Given the description of an element on the screen output the (x, y) to click on. 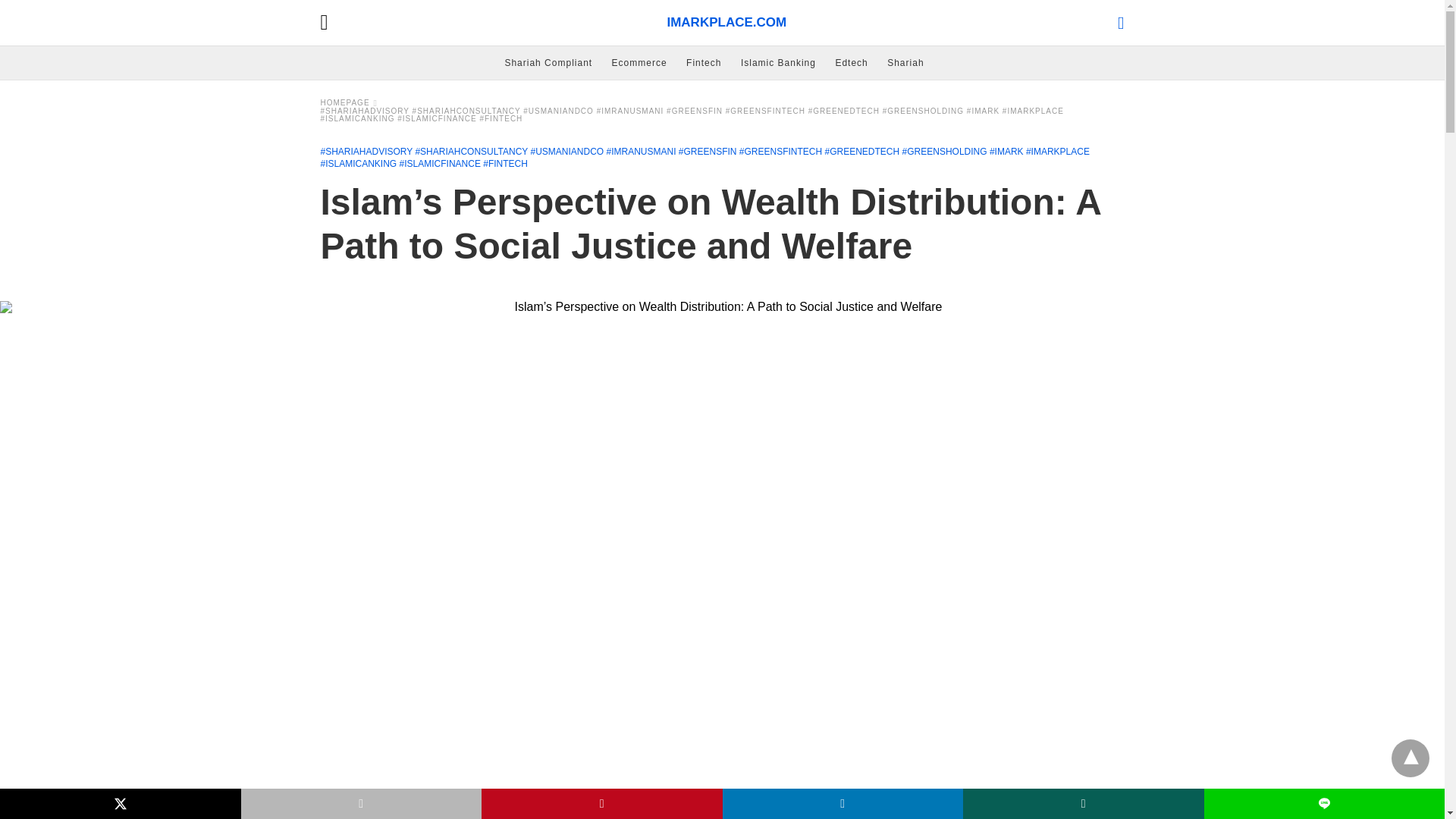
Homepage (348, 102)
HOMEPAGE (348, 102)
Ecommerce (638, 62)
email (361, 803)
linkedin share (842, 803)
Islamic Banking (778, 62)
Fintech (702, 62)
Shariah Compliant (547, 62)
twitter share (120, 803)
Shariah (904, 62)
